Given the description of an element on the screen output the (x, y) to click on. 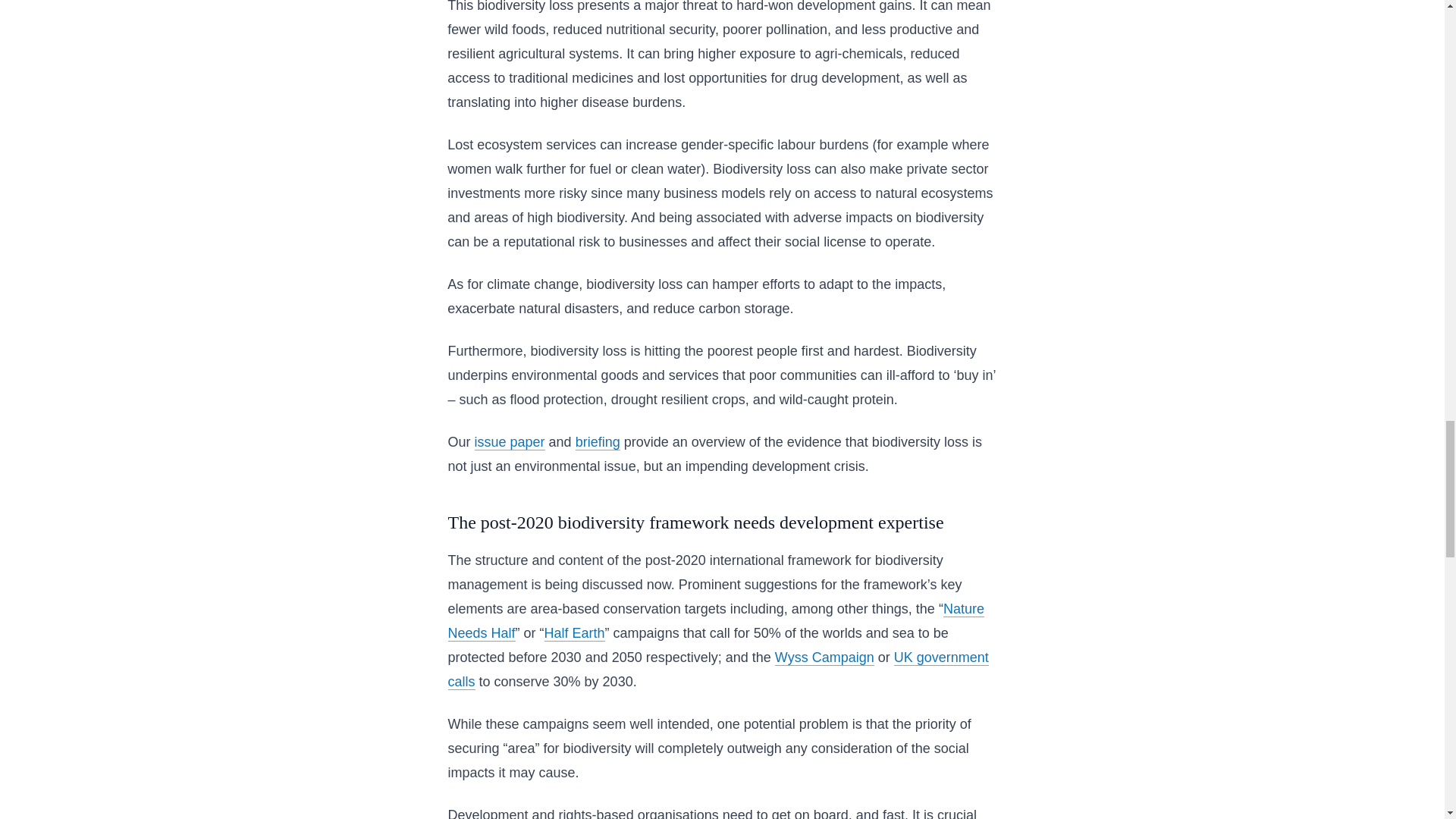
briefing (597, 442)
issue paper (509, 442)
Nature Needs Half (715, 621)
